Given the description of an element on the screen output the (x, y) to click on. 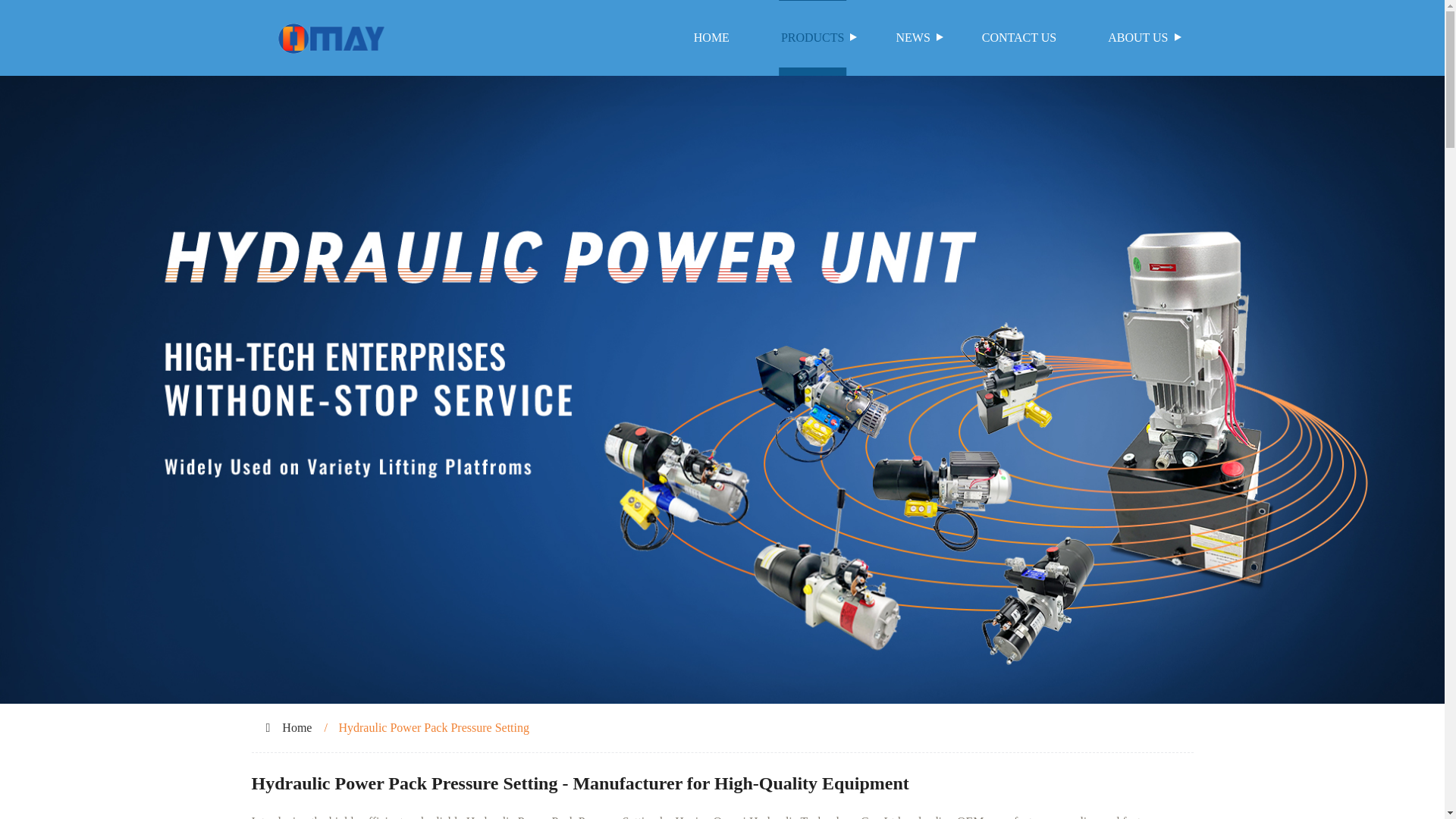
PRODUCTS (812, 38)
Home (296, 727)
CONTACT US (1018, 38)
